Given the description of an element on the screen output the (x, y) to click on. 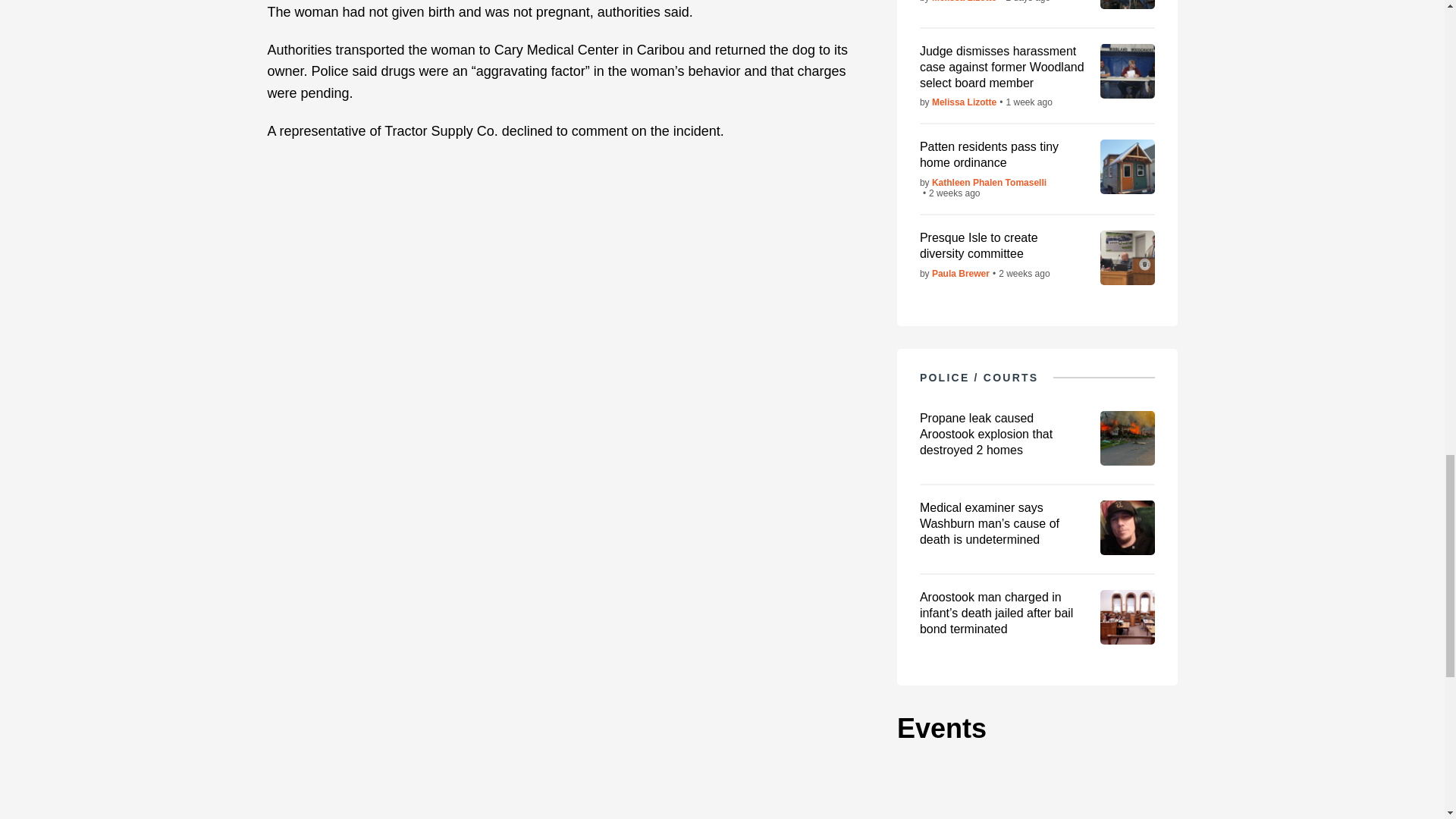
Posts by Melissa Lizotte (963, 102)
Posts by Kathleen Phalen Tomaselli (988, 182)
Posts by Melissa Lizotte (963, 1)
Posts by Paula Brewer (960, 273)
